Given the description of an element on the screen output the (x, y) to click on. 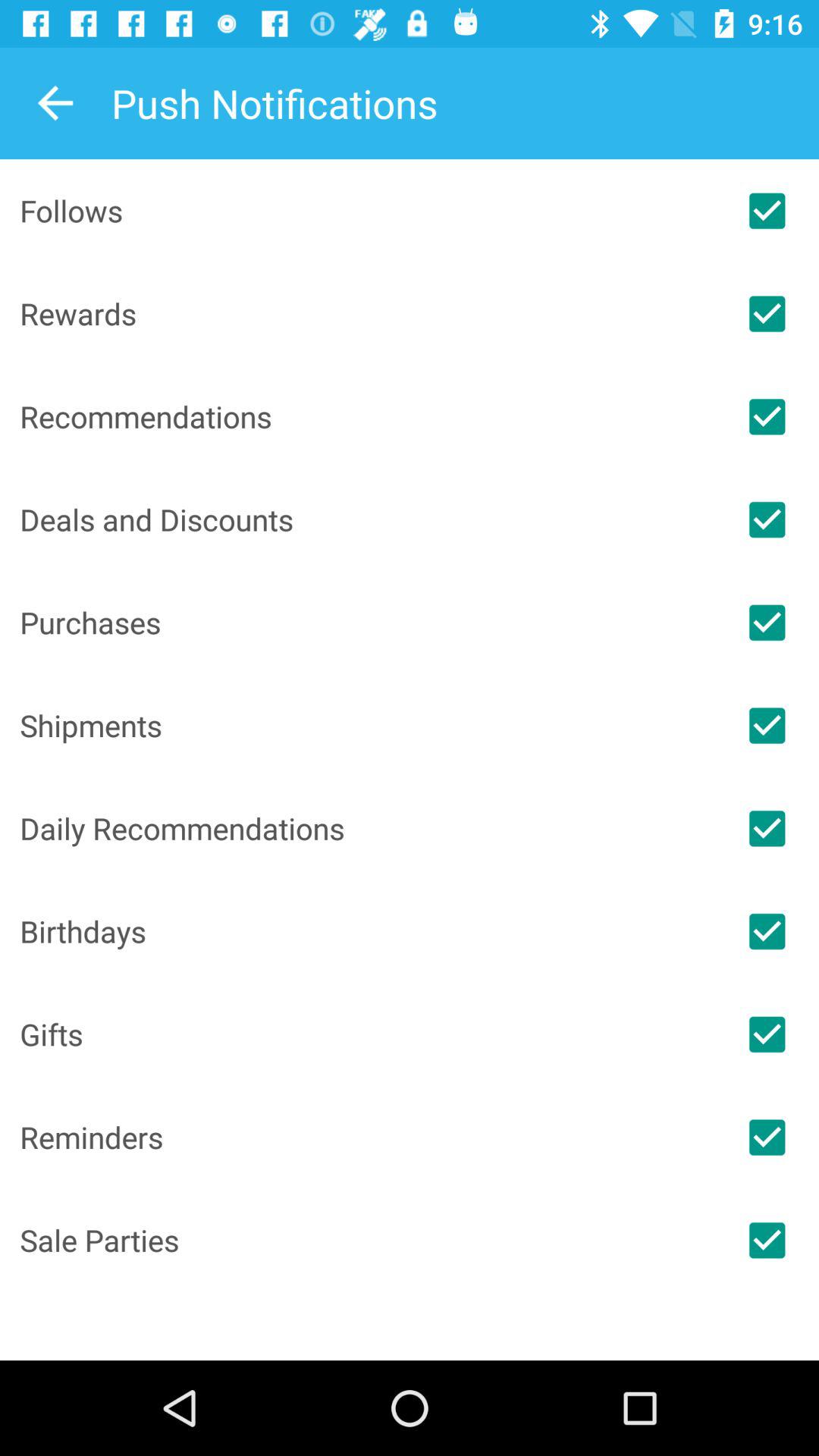
press the icon below the deals and discounts icon (367, 622)
